Given the description of an element on the screen output the (x, y) to click on. 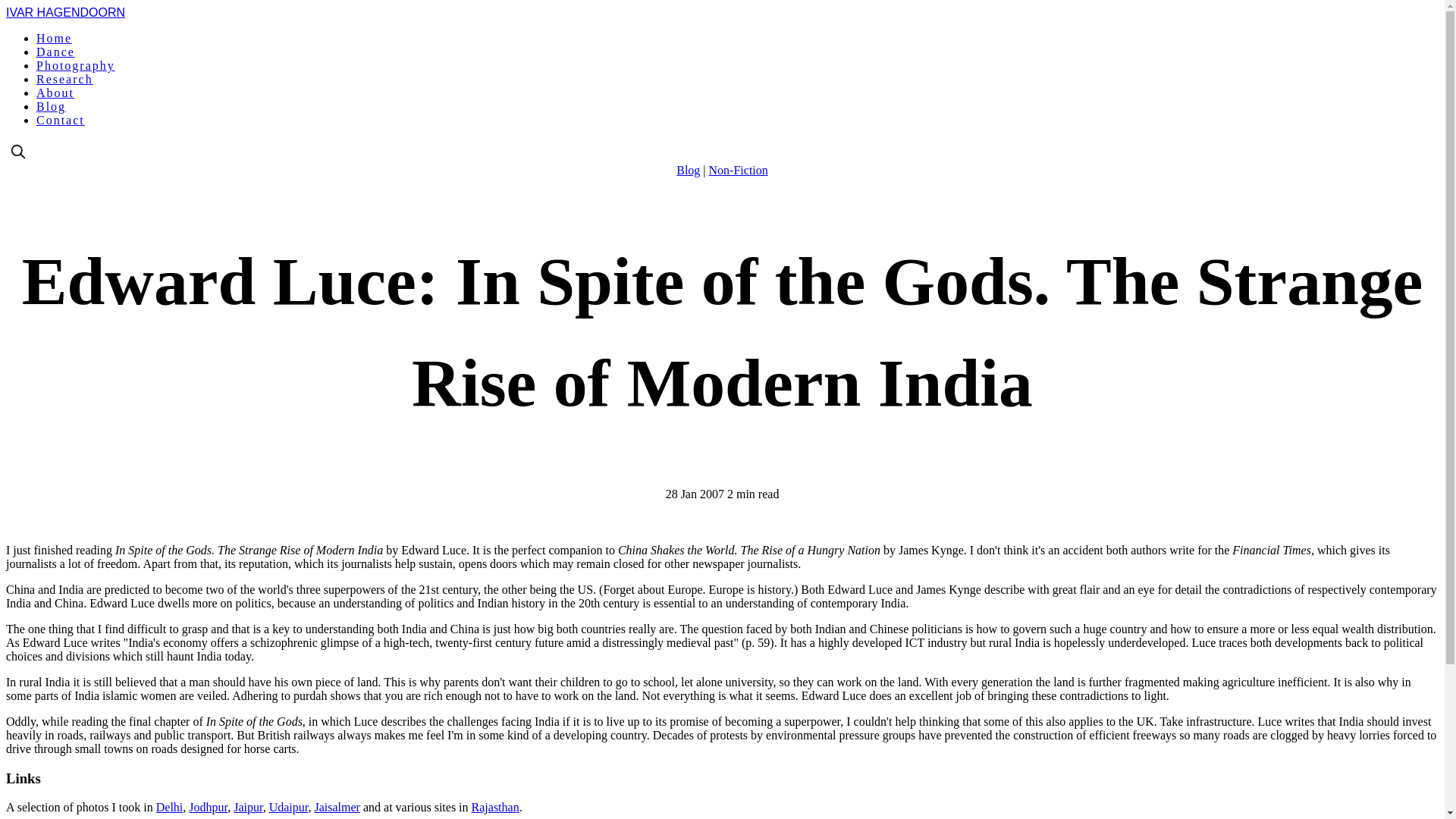
Photography (75, 65)
Non-Fiction (738, 169)
Udaipur (288, 807)
Home (53, 38)
About (55, 92)
Contact (60, 119)
Rajasthan (495, 807)
Jaipur (247, 807)
Jodhpur (208, 807)
IVAR HAGENDOORN (65, 11)
Delhi (169, 807)
Blog (50, 106)
Blog (688, 169)
Research (64, 78)
Dance (55, 51)
